Given the description of an element on the screen output the (x, y) to click on. 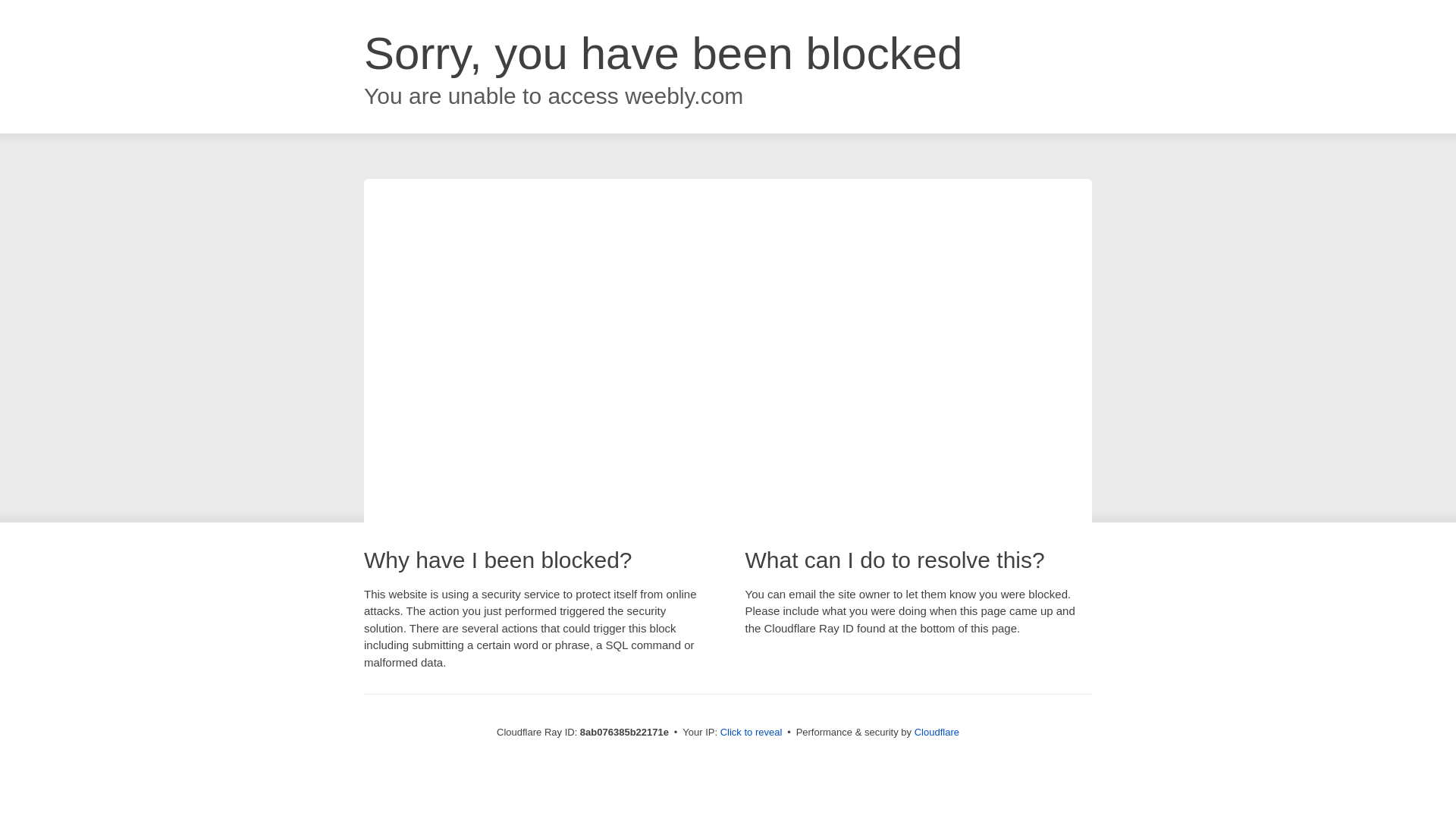
Click to reveal (751, 732)
Cloudflare (936, 731)
